Given the description of an element on the screen output the (x, y) to click on. 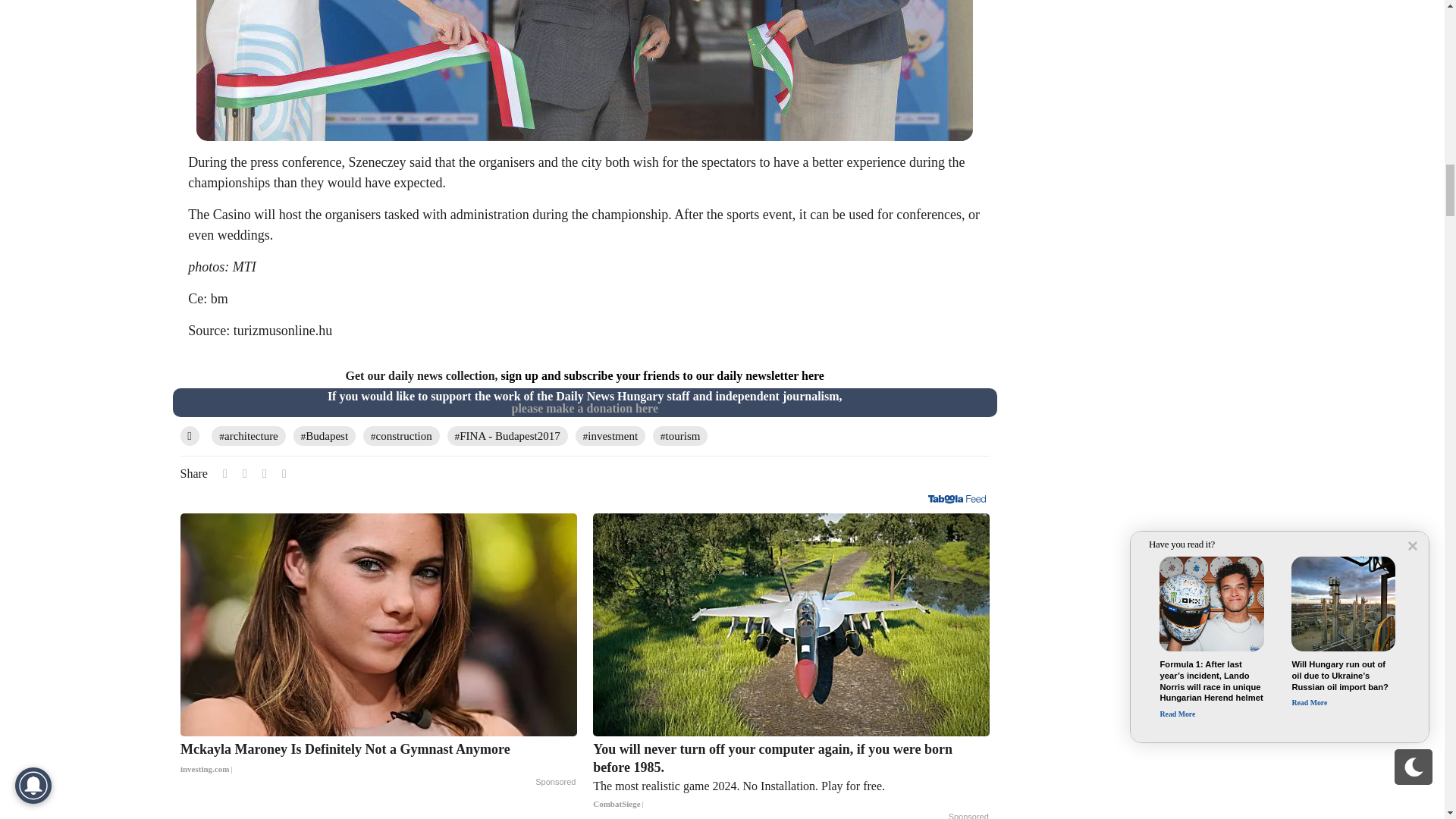
Mckayla Maroney Is Definitely Not a Gymnast Anymore (378, 759)
